Given the description of an element on the screen output the (x, y) to click on. 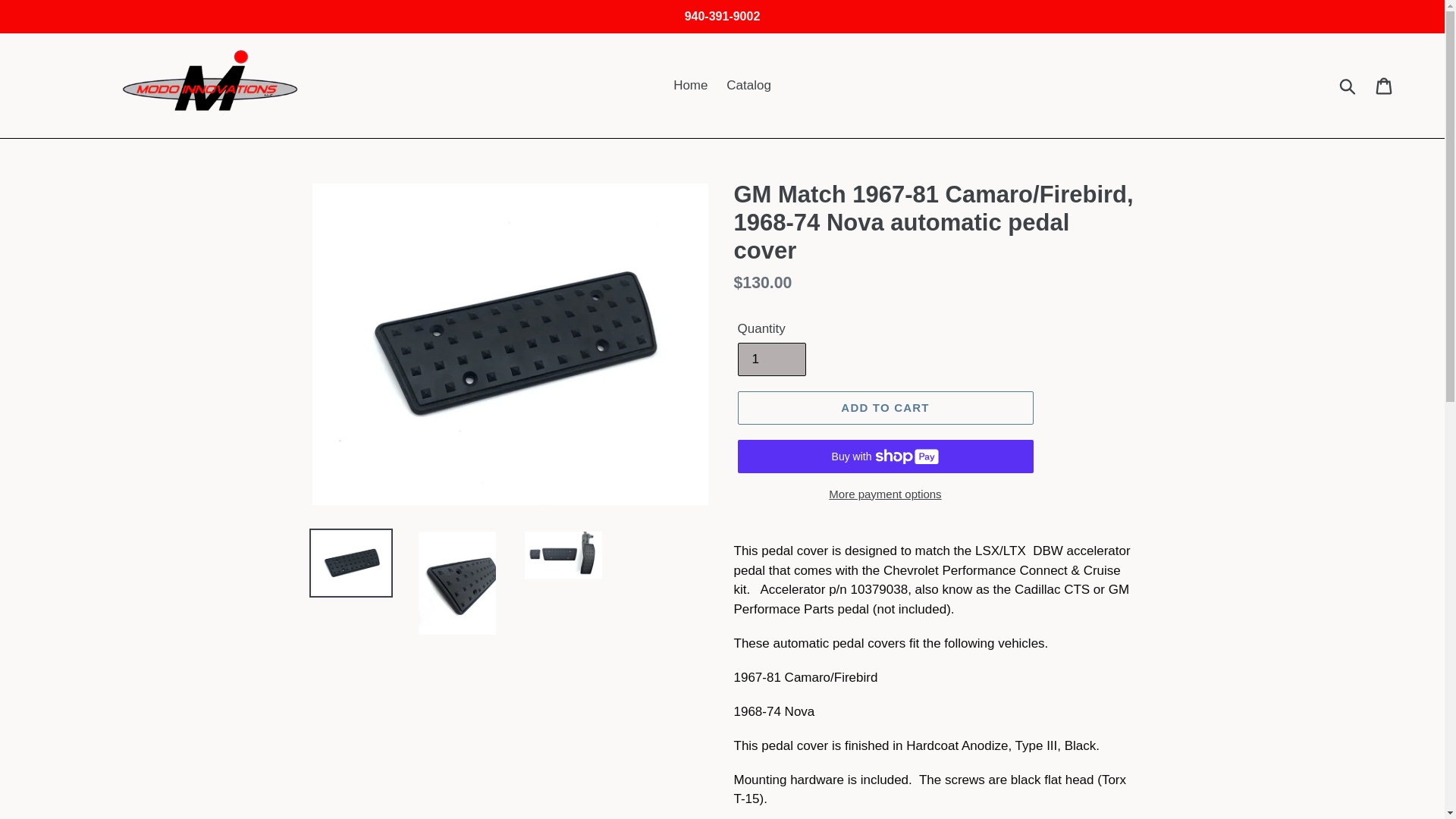
More payment options (884, 494)
ADD TO CART (884, 408)
Catalog (748, 85)
Submit (1348, 85)
Cart (1385, 85)
Home (689, 85)
1 (770, 359)
